Given the description of an element on the screen output the (x, y) to click on. 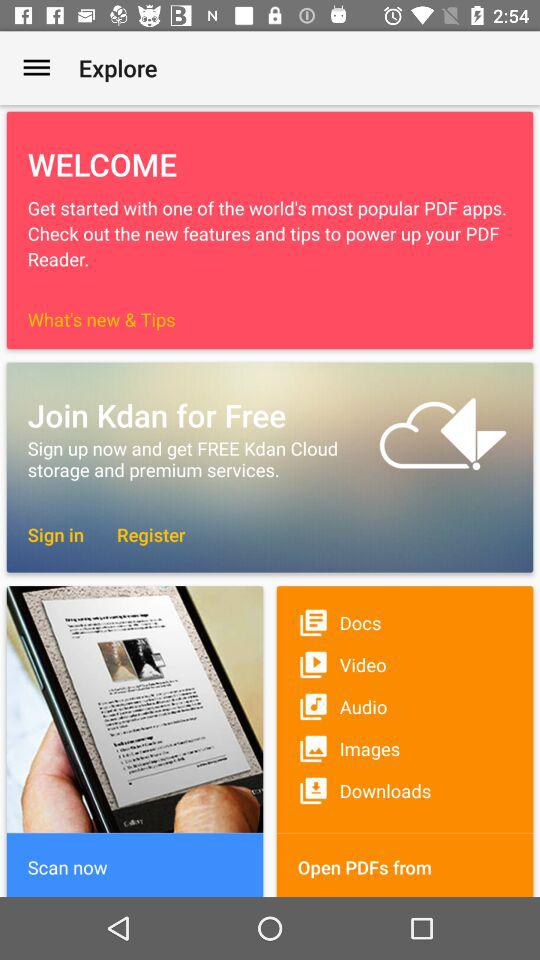
open icon below the sign up now item (55, 534)
